Given the description of an element on the screen output the (x, y) to click on. 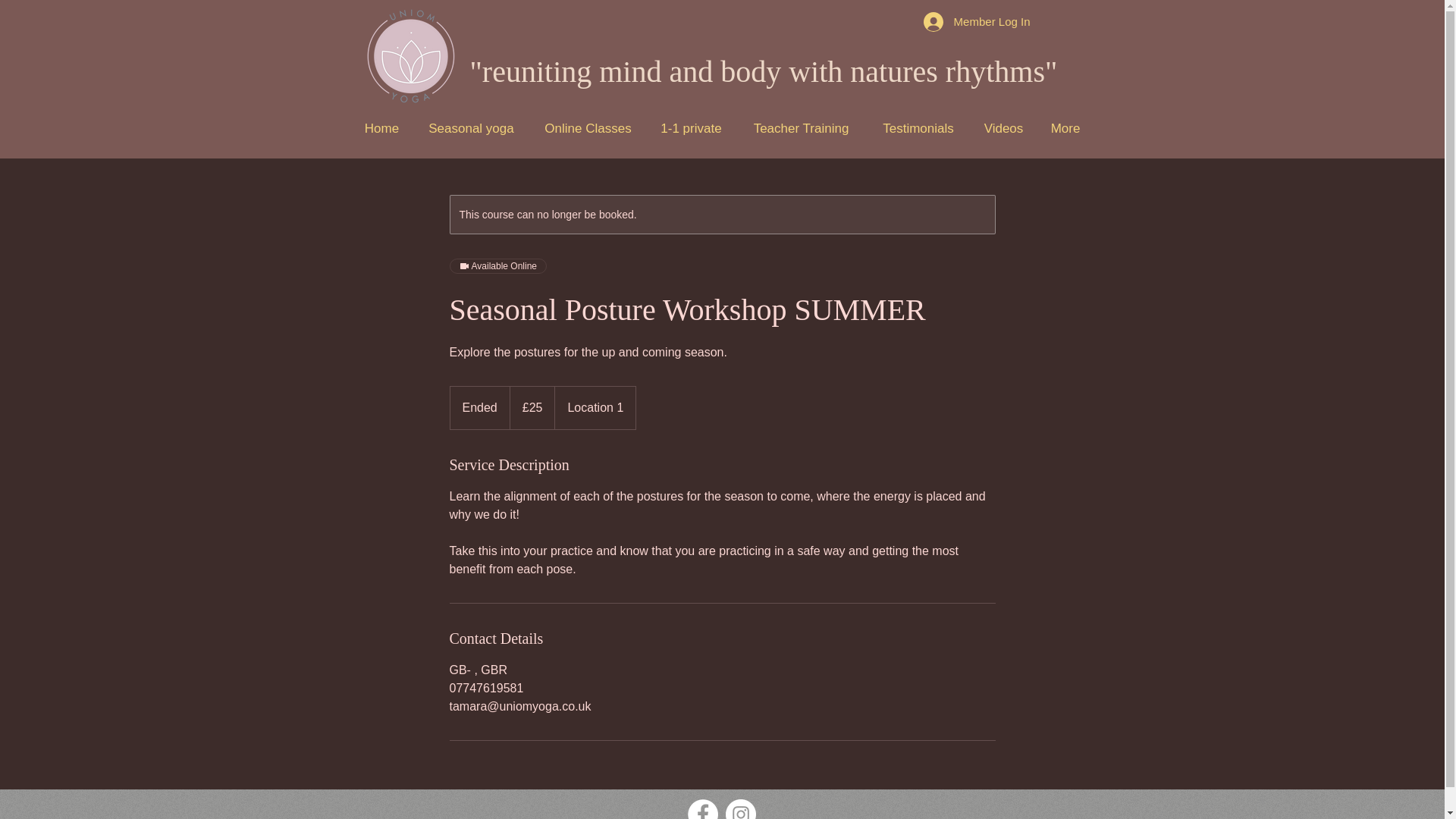
1-1 private (690, 128)
Testimonials (917, 128)
Videos (1003, 128)
Home (381, 128)
Seasonal yoga (470, 128)
Member Log In (976, 21)
Teacher Training (800, 128)
Online Classes (587, 128)
